Given the description of an element on the screen output the (x, y) to click on. 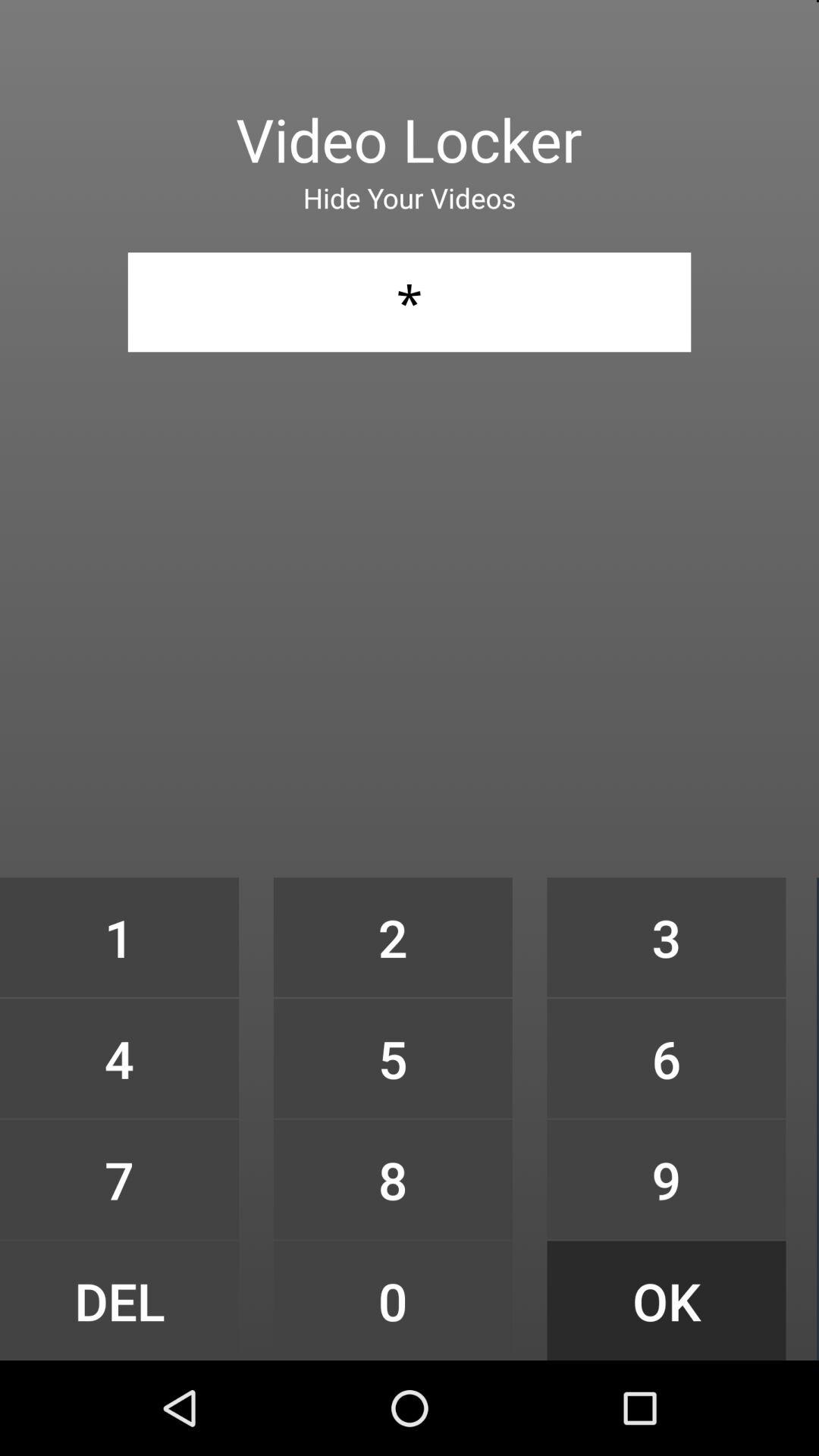
launch the icon above the 4 item (119, 937)
